Given the description of an element on the screen output the (x, y) to click on. 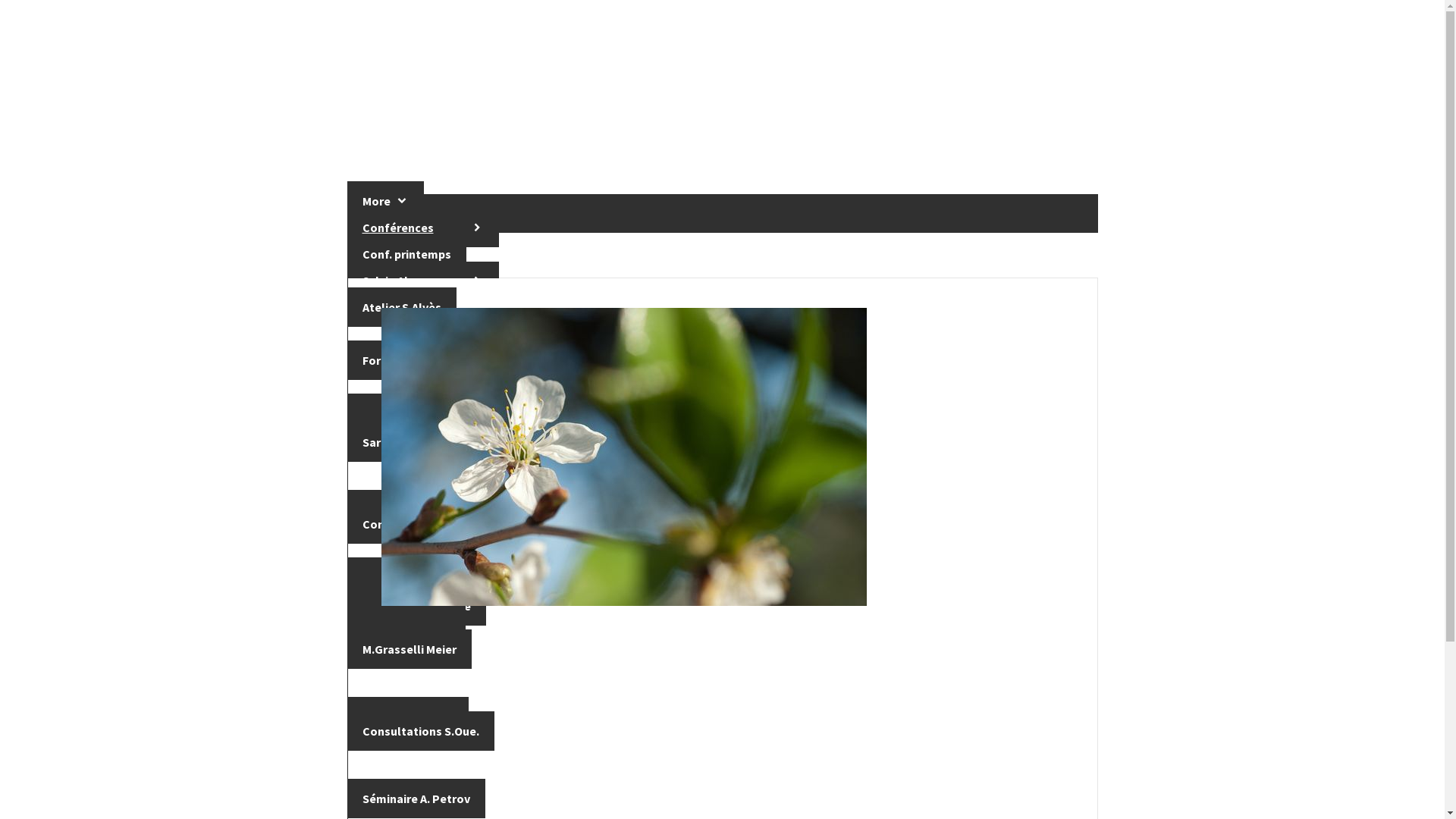
More Element type: text (385, 200)
Lucien Essique Element type: text (422, 386)
Salon Mednat Element type: text (400, 634)
Conf. printemps Element type: text (406, 253)
M.Grasselli Meier Element type: text (409, 648)
Formation en ligne Element type: text (414, 359)
Consultations S.Oue. Element type: text (420, 730)
Atelier Petitcollin Element type: text (411, 509)
Consultations C.Peti Element type: text (419, 523)
Steeve Di Marco Element type: text (406, 620)
Consultations Element type: text (402, 576)
Consult.L.Essique Element type: text (411, 427)
Conf.Sylvie Ouellet Element type: text (422, 682)
Sylvie Alves Element type: text (422, 280)
Conf.Arkady Petrov Element type: text (422, 764)
Atelier L.Essique Element type: text (407, 413)
Atelier S.Ouellet Element type: text (407, 716)
Patrick Drouot Element type: text (422, 550)
Sarah D. Pomerleau Element type: text (416, 441)
Christel Petitcollin Element type: text (422, 475)
